Given the description of an element on the screen output the (x, y) to click on. 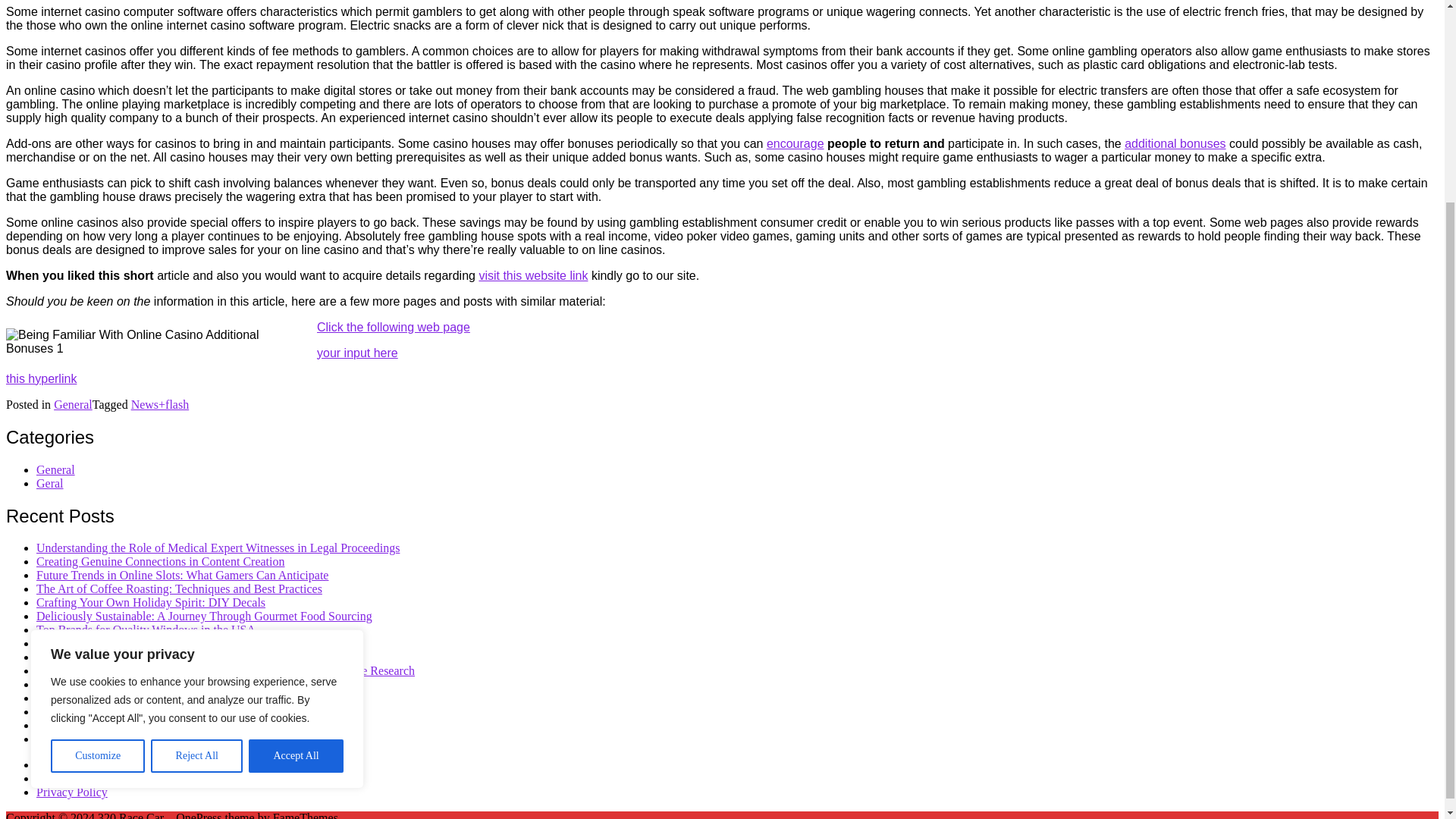
Accept All (295, 492)
this hyperlink (41, 378)
Embracing the Wilderness: Essential Hiking Gear for Iceland (184, 656)
Crafting Your Own Holiday Spirit: DIY Decals (150, 602)
Click the following web page (393, 327)
Unraveling Bonds Over Trivia: The Joy of Pub Interaction (178, 643)
your input here (357, 352)
The Art of Coffee Roasting: Techniques and Best Practices (178, 588)
General (55, 469)
